Given the description of an element on the screen output the (x, y) to click on. 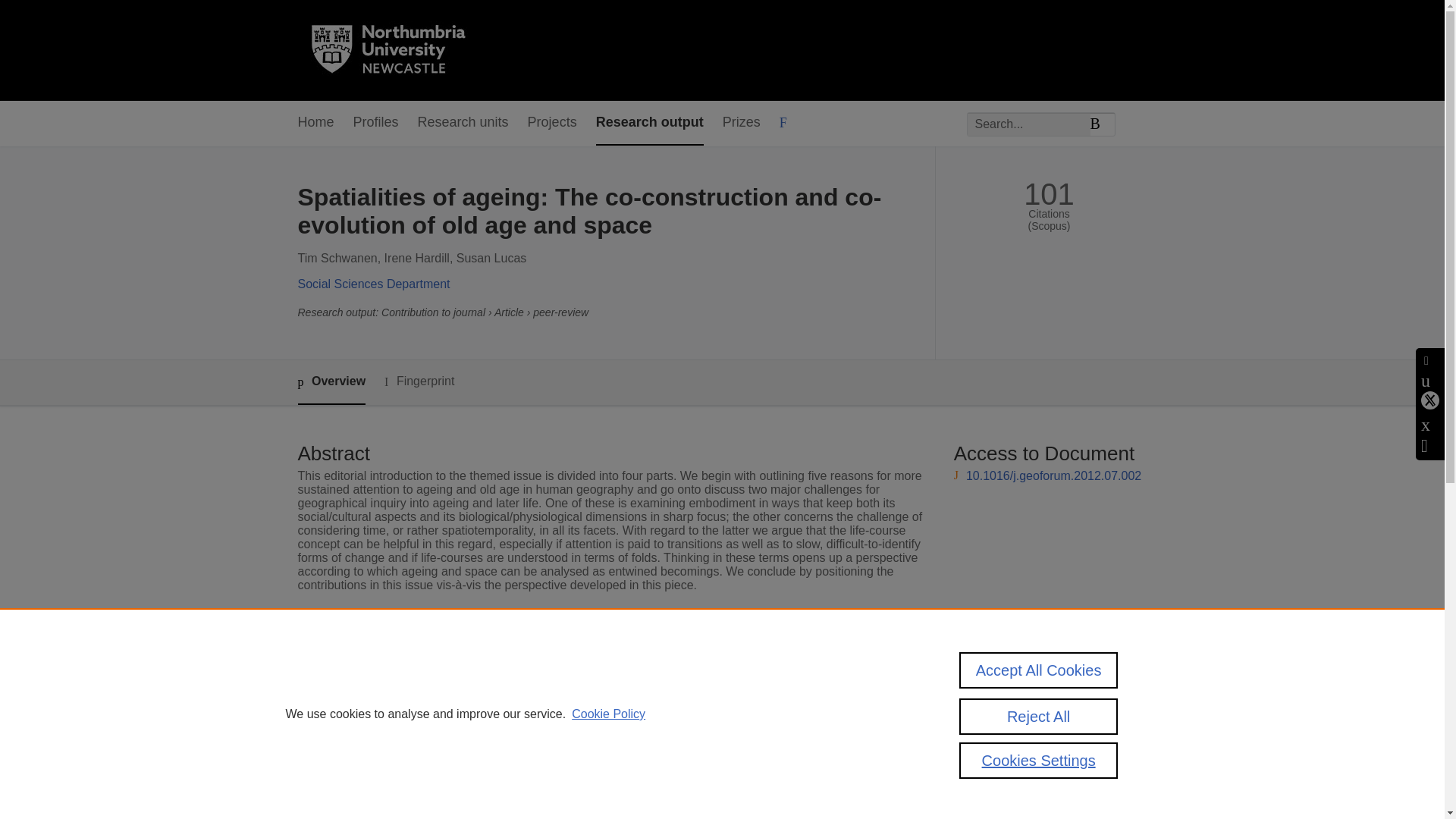
Social Sciences Department (373, 283)
Northumbria University Research Portal Home (398, 50)
Research units (462, 122)
Projects (551, 122)
Research output (649, 122)
Fingerprint (419, 381)
Overview (331, 382)
Geoforum (538, 658)
Profiles (375, 122)
